Given the description of an element on the screen output the (x, y) to click on. 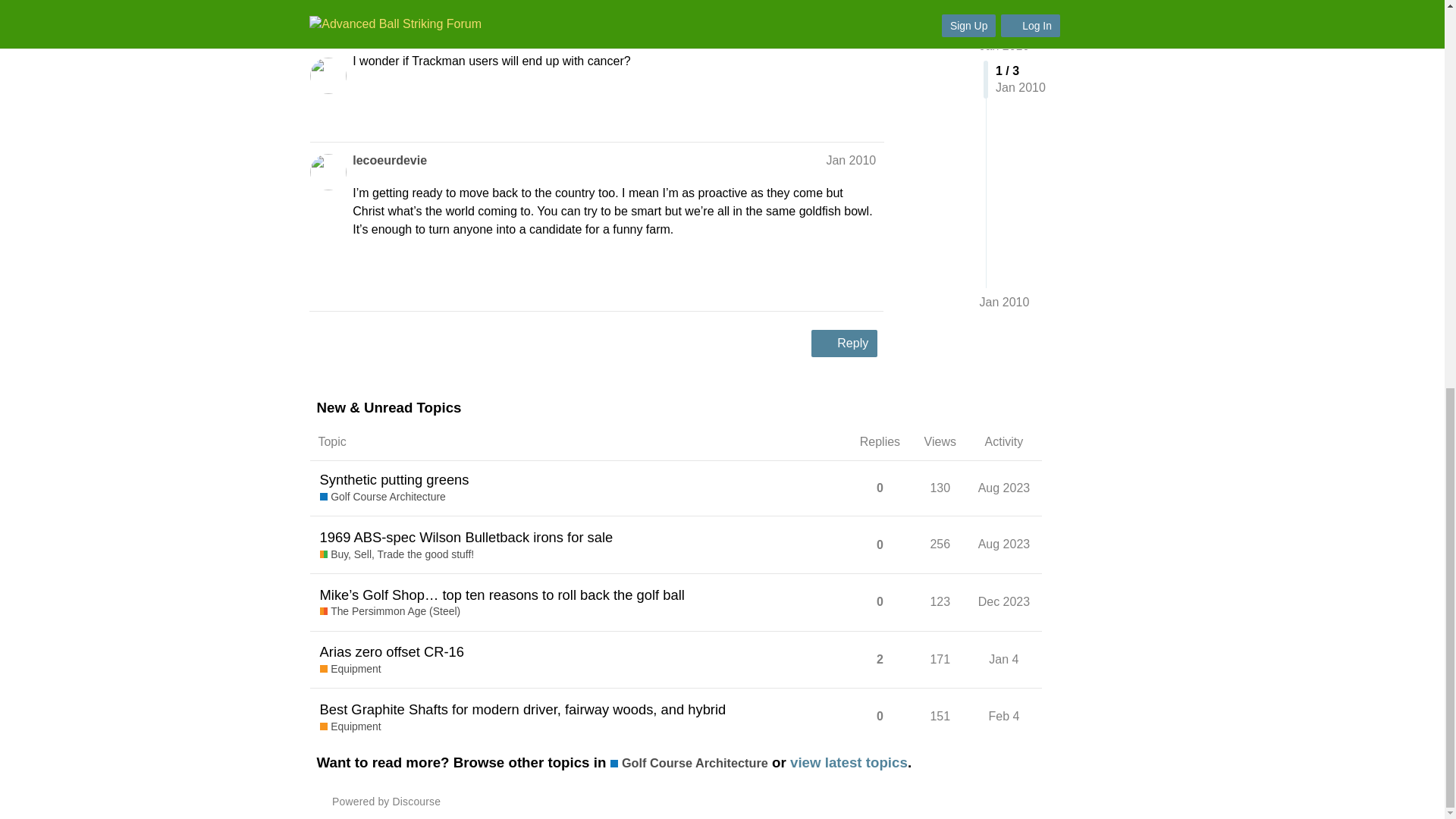
copy a link to this post to clipboard (869, 113)
Aug 2023 (1003, 543)
Buy, Sell, Trade the good stuff! (397, 554)
lecoeurdevie (389, 160)
Jan 2010 (850, 160)
like this post (835, 113)
Golf Course Architecture (382, 497)
Reply (843, 343)
Post date (850, 160)
Aug 2023 (1003, 488)
Synthetic putting greens (394, 479)
1969 ABS-spec Wilson Bulletback irons for sale (466, 536)
